Given the description of an element on the screen output the (x, y) to click on. 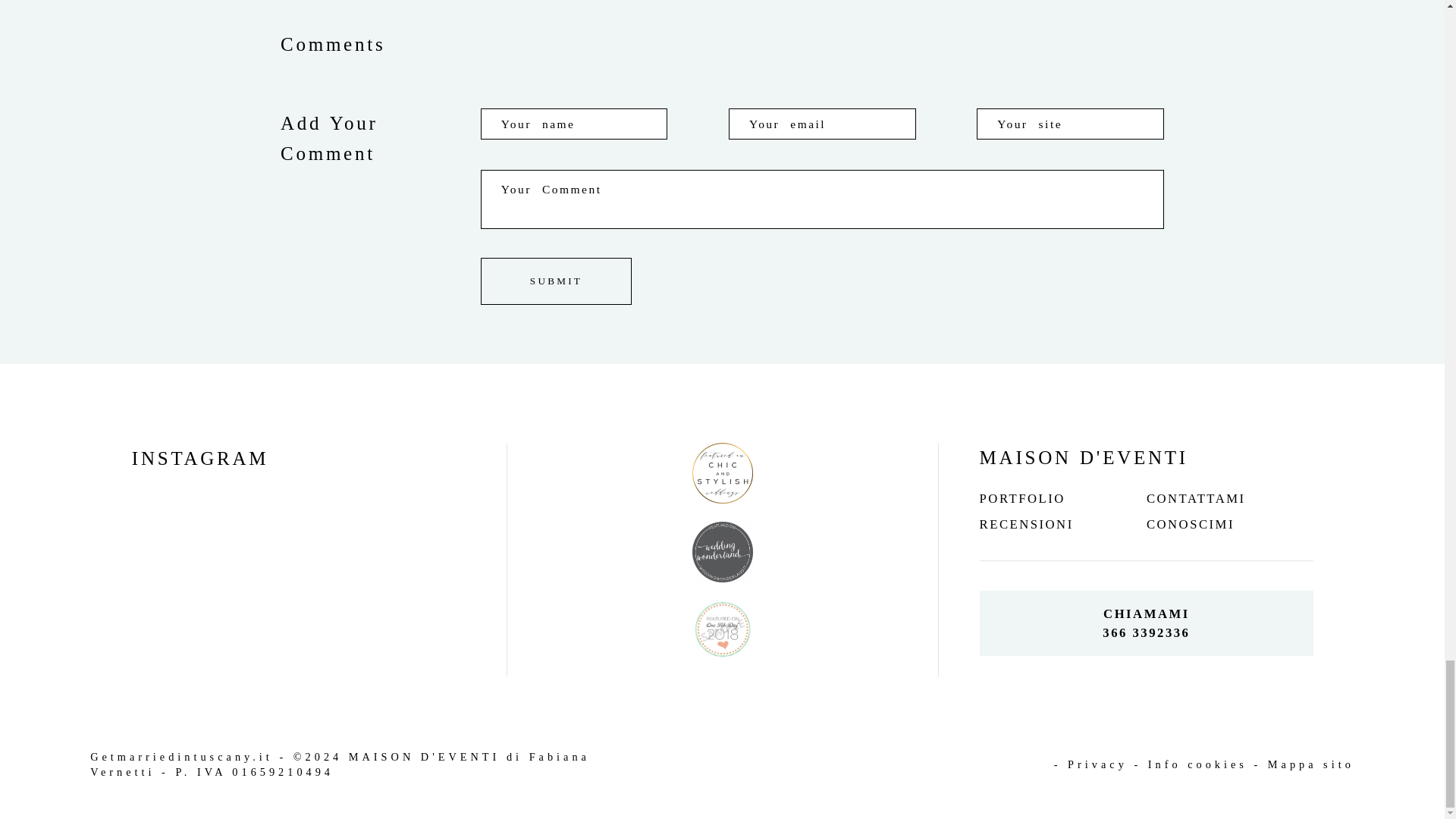
SUBMIT (555, 280)
wedding planner in toscana maison d'eventi (181, 756)
